Given the description of an element on the screen output the (x, y) to click on. 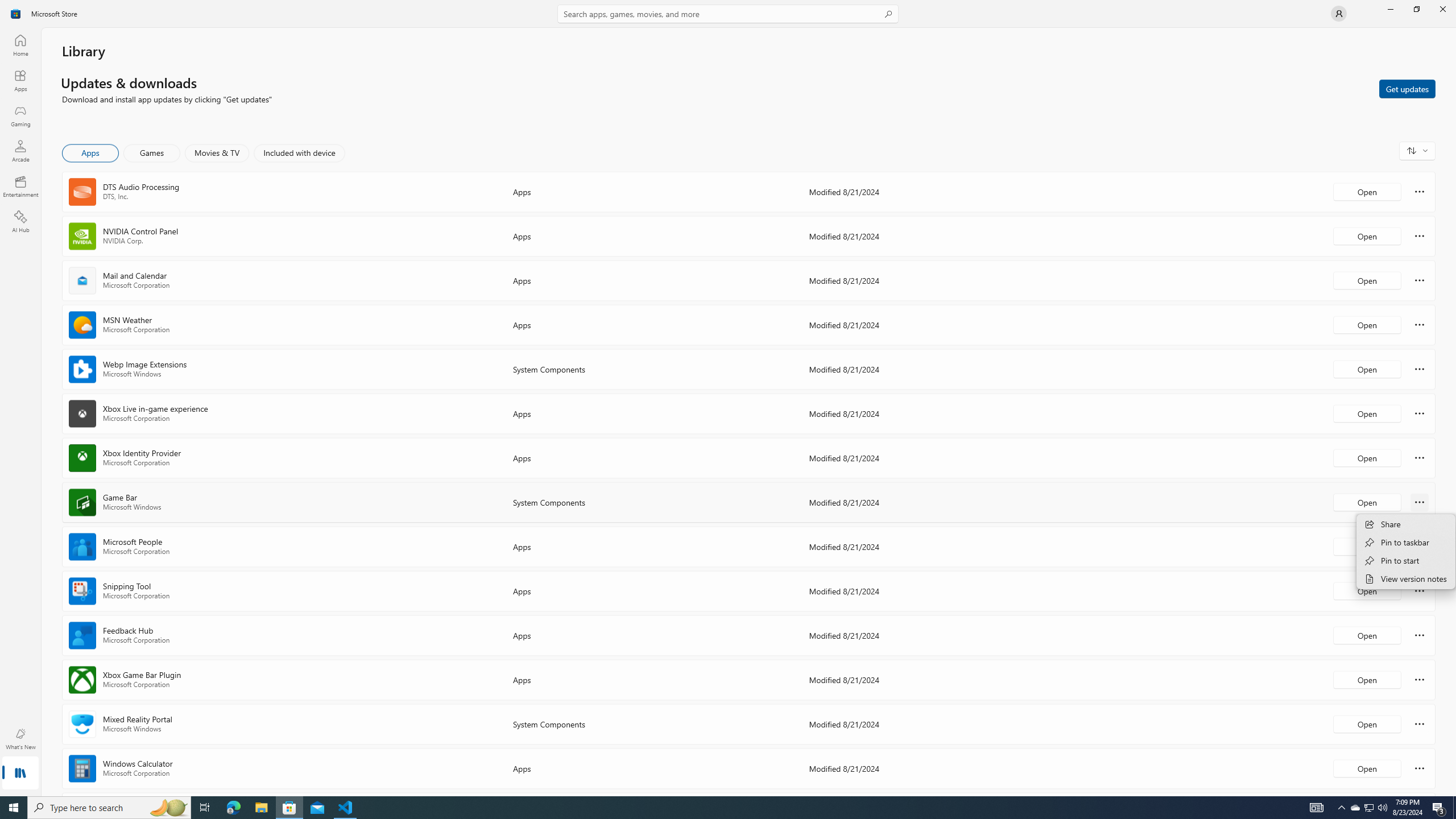
Included with device (299, 153)
Open (1366, 768)
Get updates (1406, 88)
Movies & TV (216, 153)
Games (151, 153)
Sort and filter (1417, 149)
AutomationID: NavigationControl (728, 398)
